Given the description of an element on the screen output the (x, y) to click on. 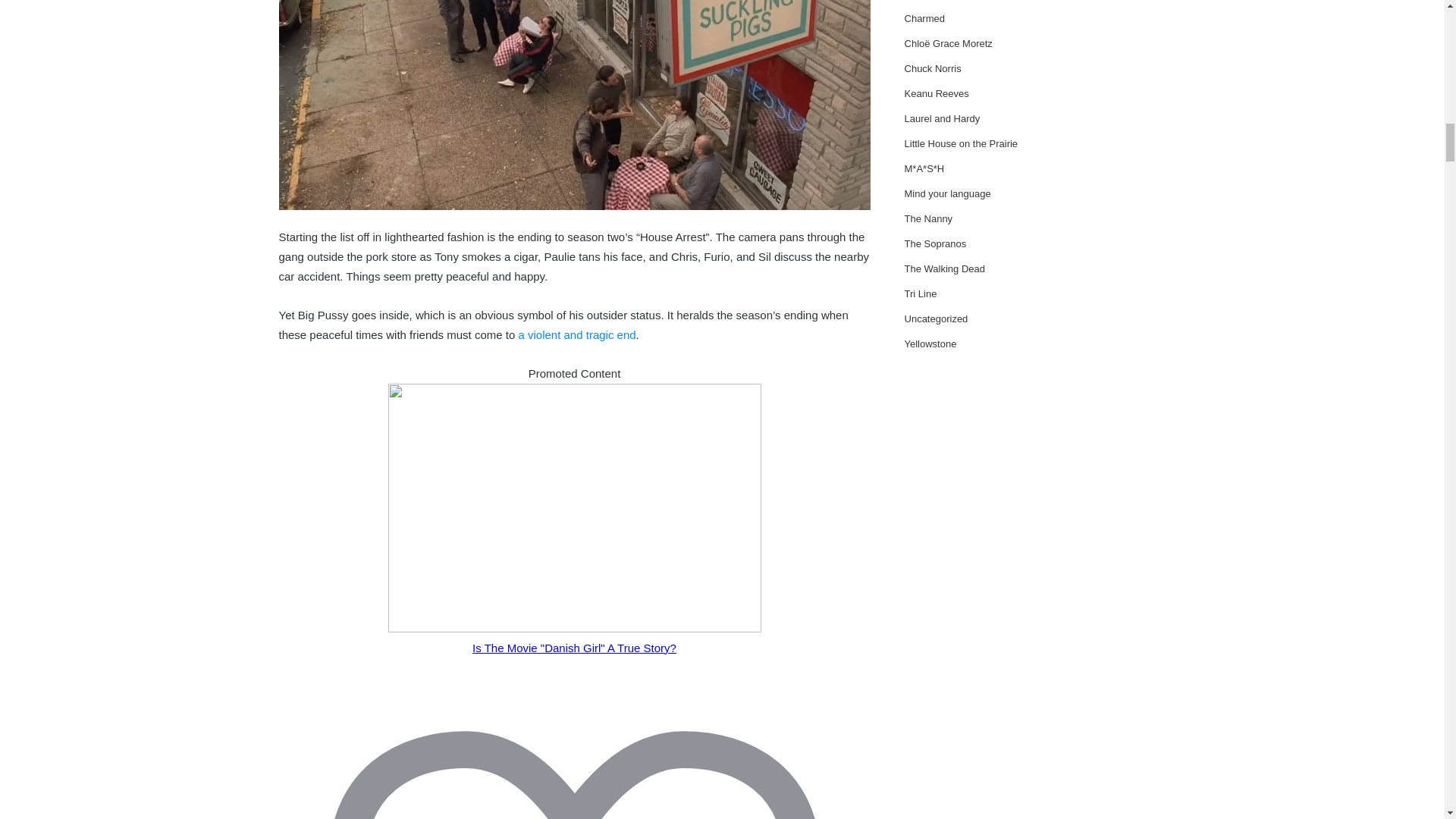
a violent and tragic end (576, 334)
